Given the description of an element on the screen output the (x, y) to click on. 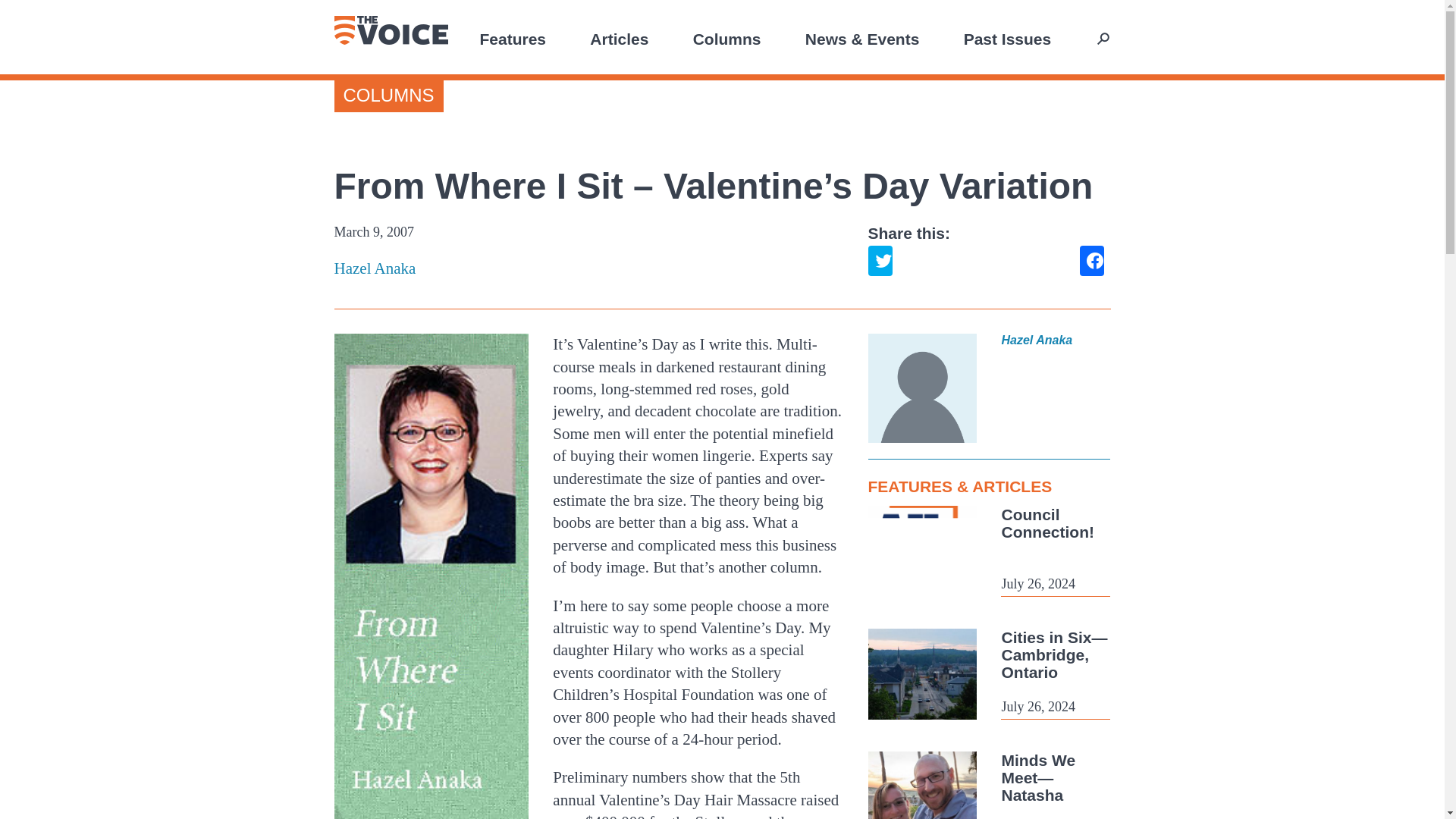
Posts by Hazel Anaka (588, 268)
The Voice (389, 30)
Hazel Anaka (588, 268)
COLUMNS (387, 95)
Articles (618, 38)
Features (512, 38)
Past Issues (1007, 38)
Council Connection! (1047, 523)
Council Connection! (1047, 523)
Columns (727, 38)
